Given the description of an element on the screen output the (x, y) to click on. 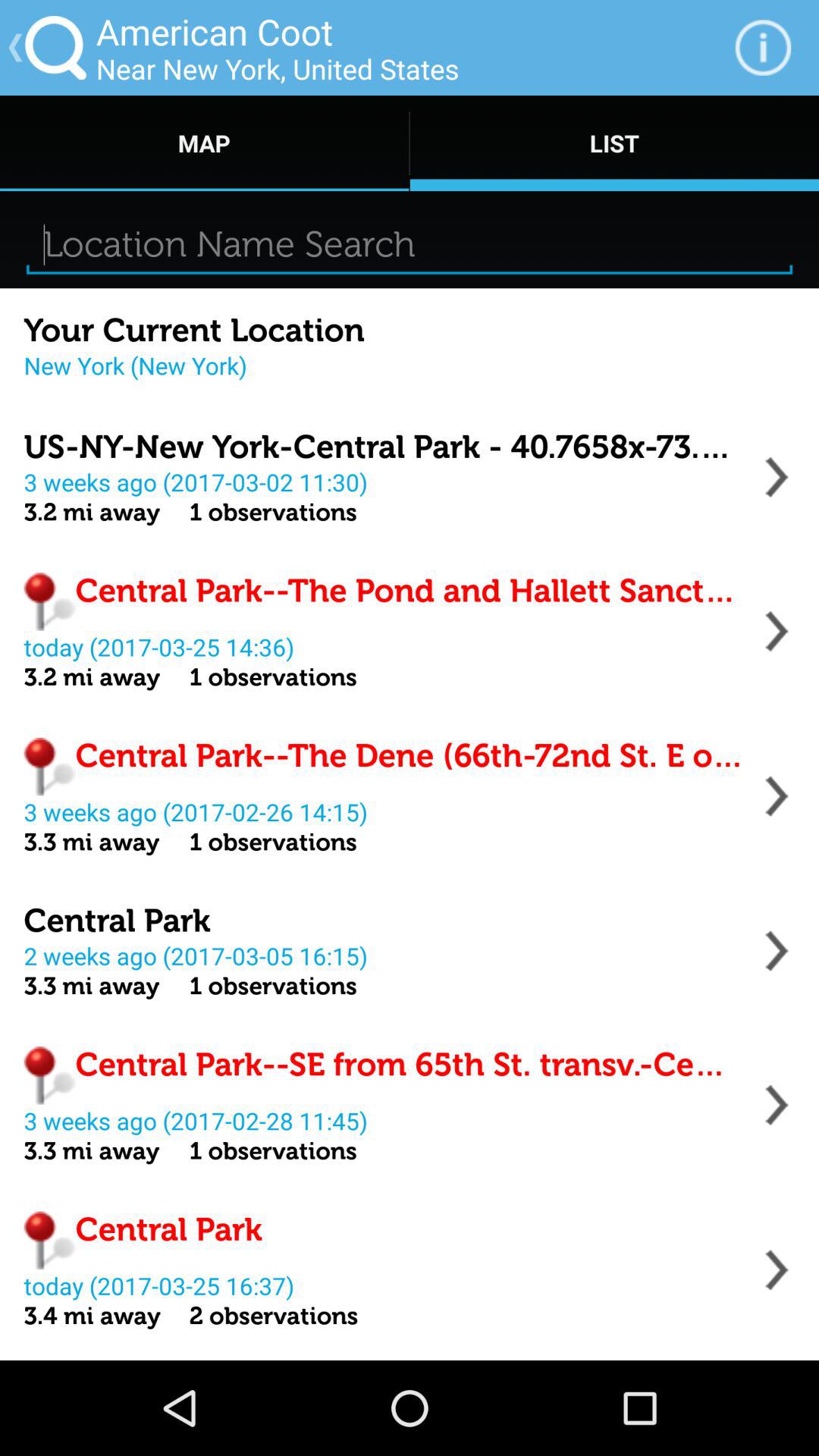
open article (776, 796)
